Given the description of an element on the screen output the (x, y) to click on. 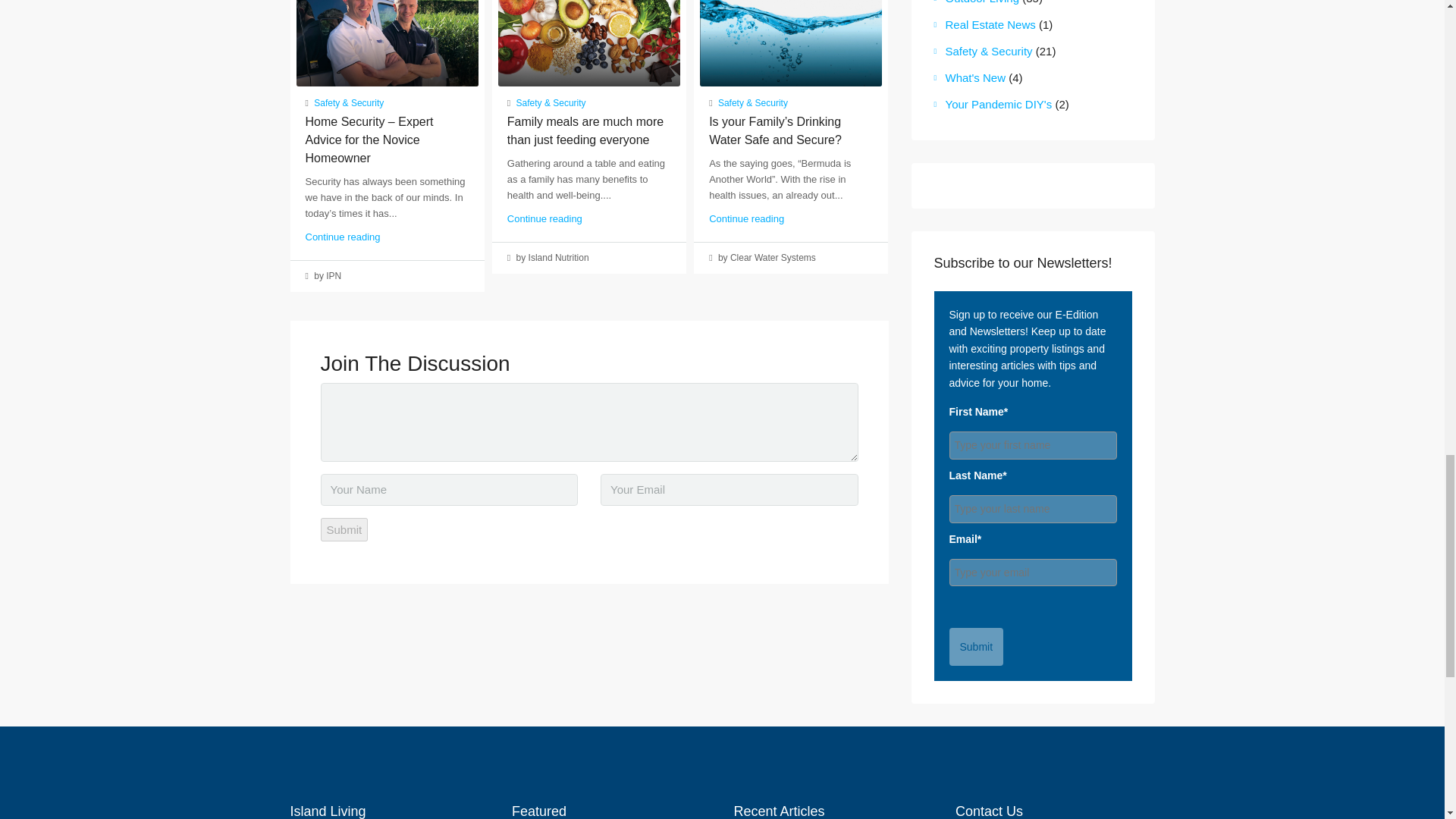
Submit (344, 529)
